Given the description of an element on the screen output the (x, y) to click on. 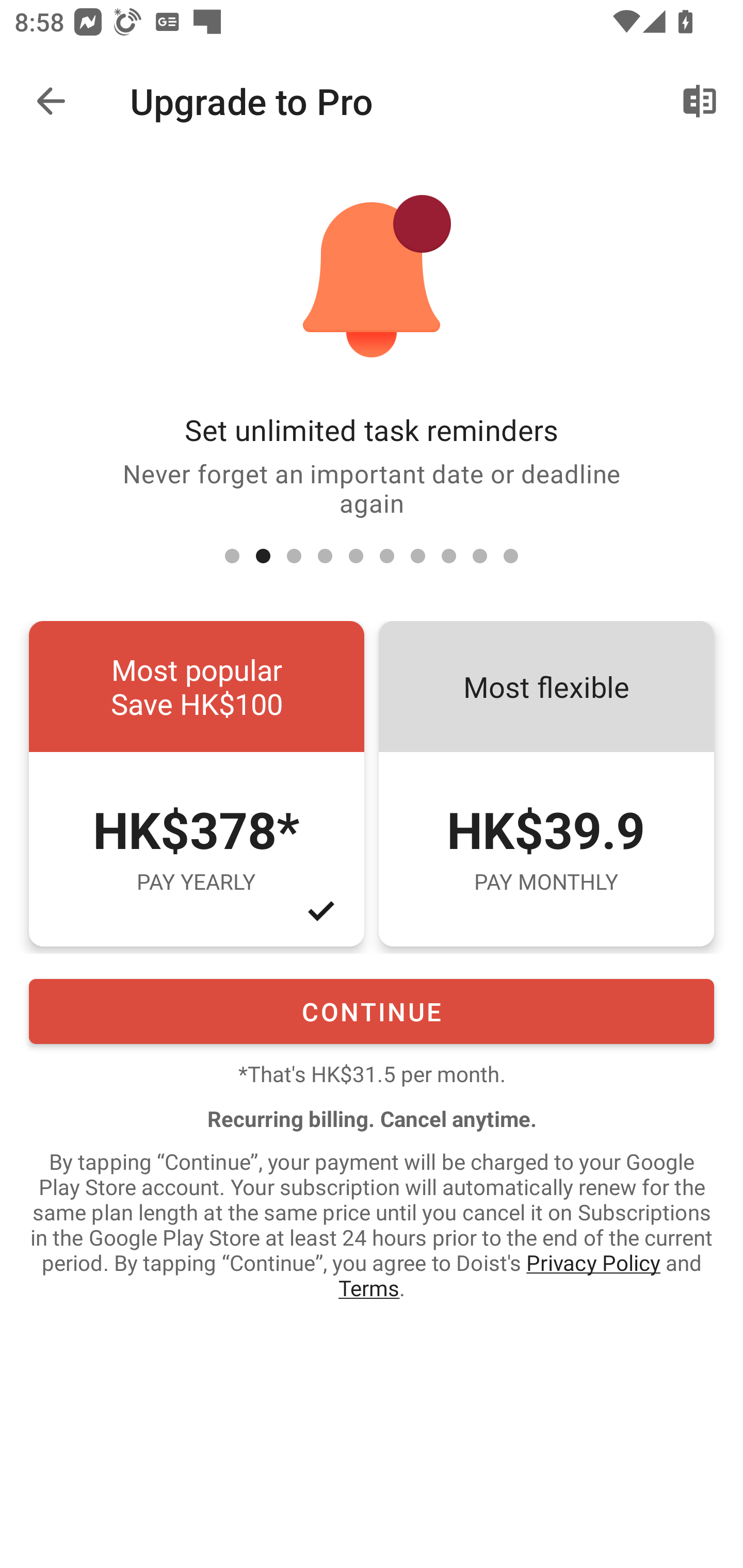
Navigate up (50, 101)
Side by side comparison (699, 101)
Most popular
Save HK$100 HK$378* PAY YEARLY (196, 783)
Most flexible HK$39.9 PAY MONTHLY (546, 783)
CONTINUE (371, 1011)
